Given the description of an element on the screen output the (x, y) to click on. 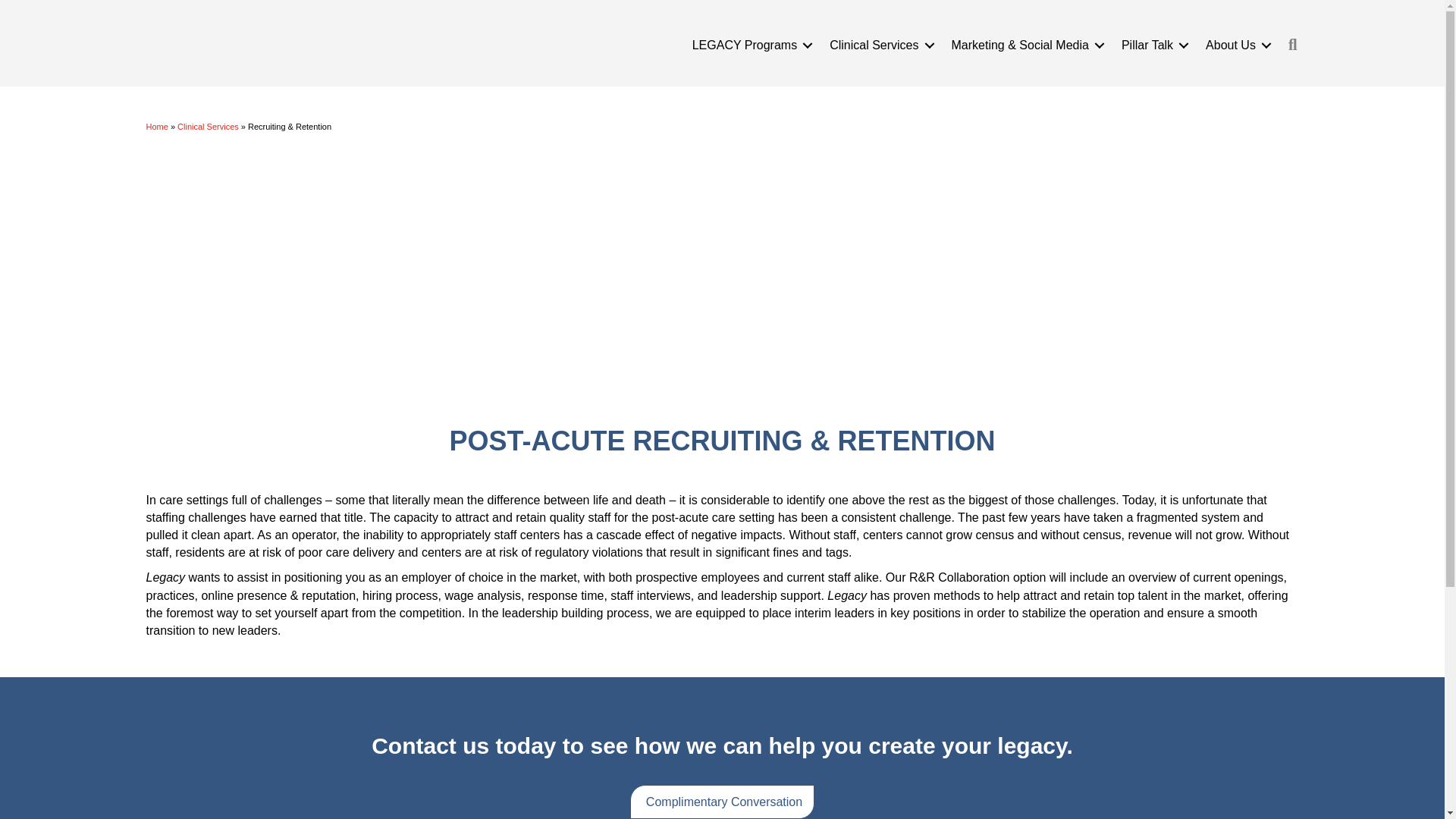
LEGACY Programs (749, 45)
Home (156, 127)
Search (1296, 44)
Clinical Services (878, 45)
Clinical Services (207, 127)
Complimentary Conversation (721, 801)
About Us (1235, 45)
Pillar Talk (1151, 45)
